Given the description of an element on the screen output the (x, y) to click on. 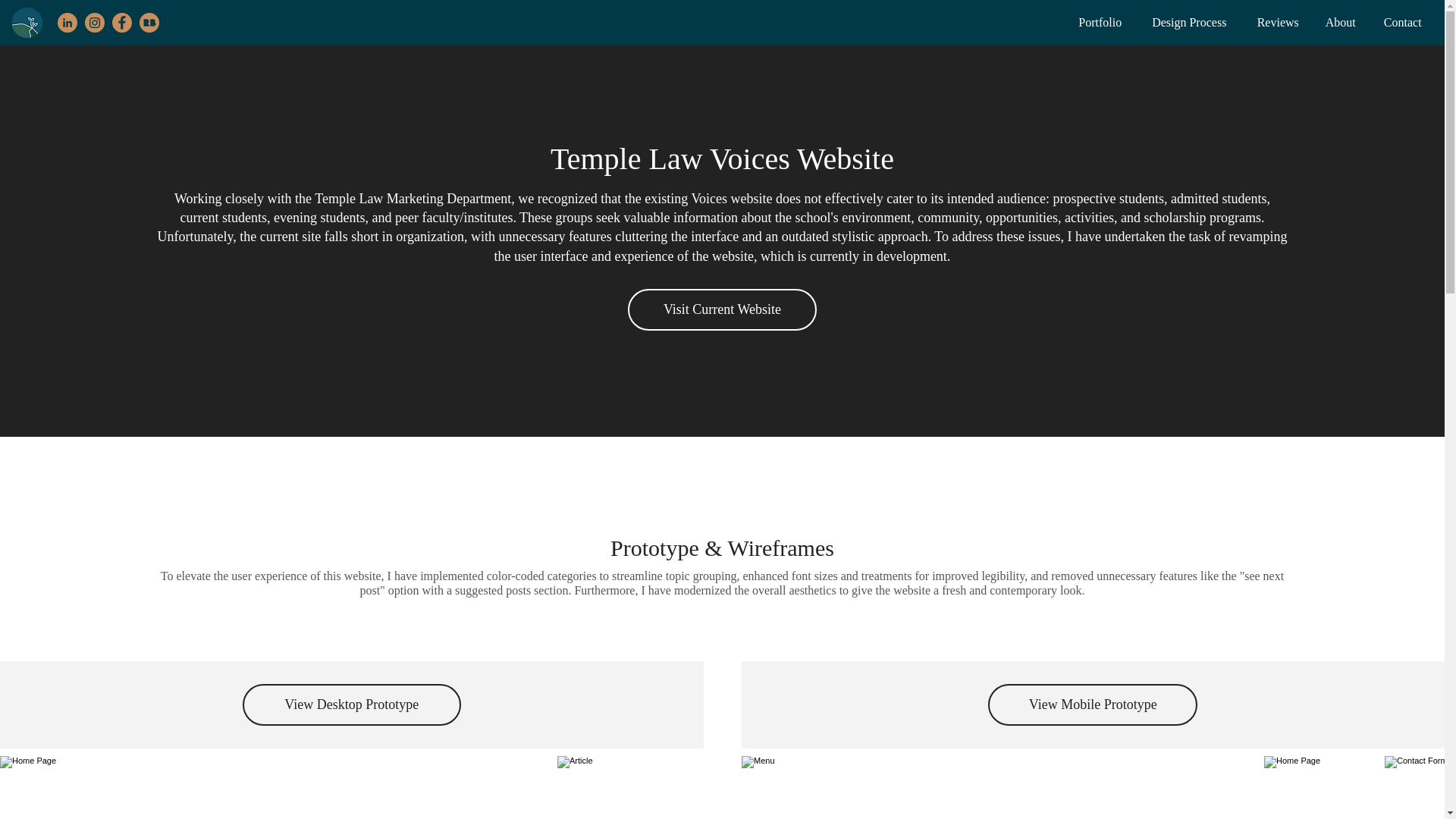
View Mobile Prototype (361, 778)
Visit Current Website (1092, 704)
Contact (721, 310)
View Desktop Prototype (1402, 22)
Reviews (361, 778)
About (352, 704)
Portfolio (1278, 22)
Design Process (1340, 22)
